Given the description of an element on the screen output the (x, y) to click on. 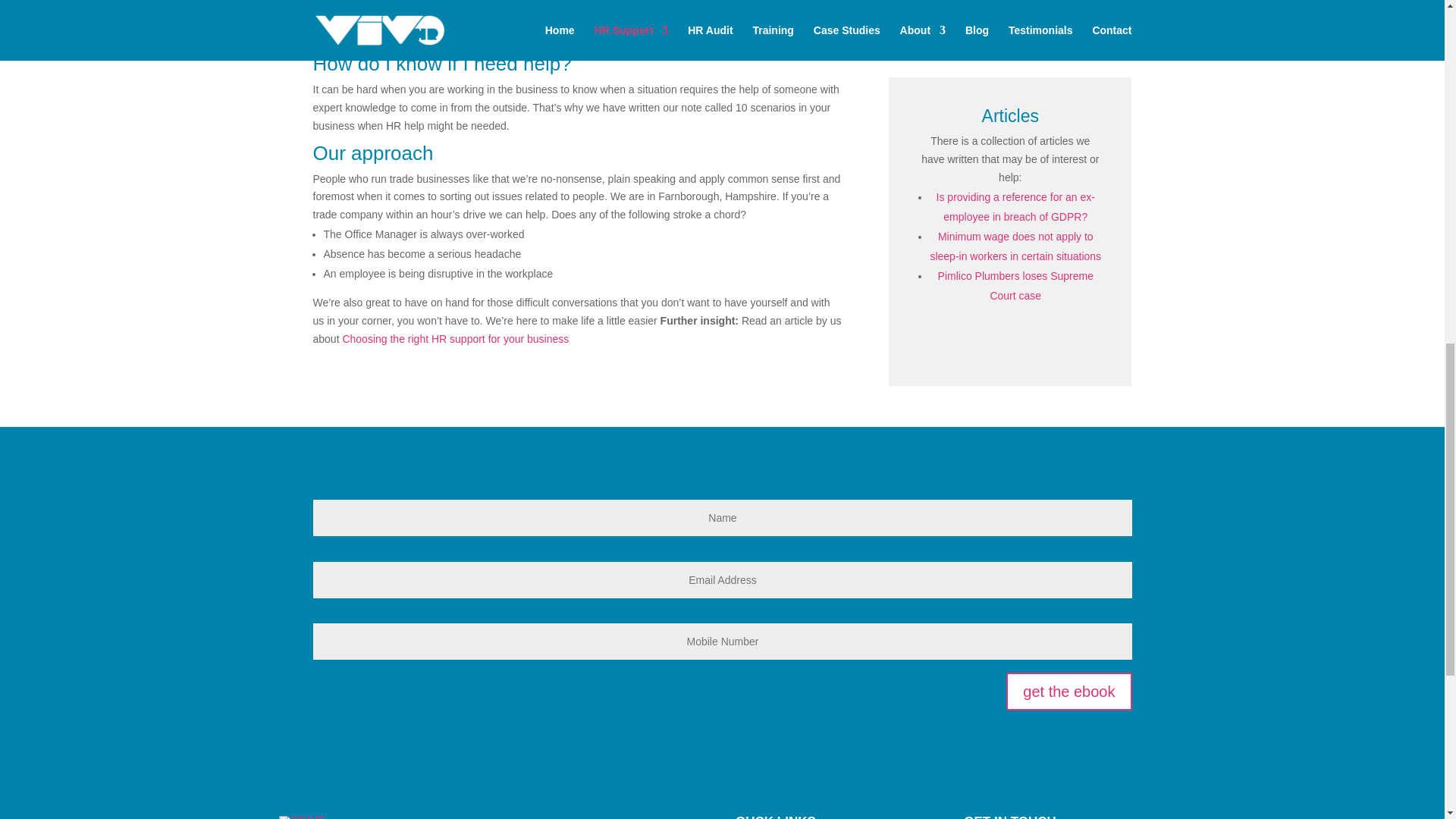
get the ebook (1068, 691)
Choosing the right HR support for your business (455, 338)
Vehicle use (926, 8)
Pimlico Plumbers loses Supreme Court case (1015, 286)
